Given the description of an element on the screen output the (x, y) to click on. 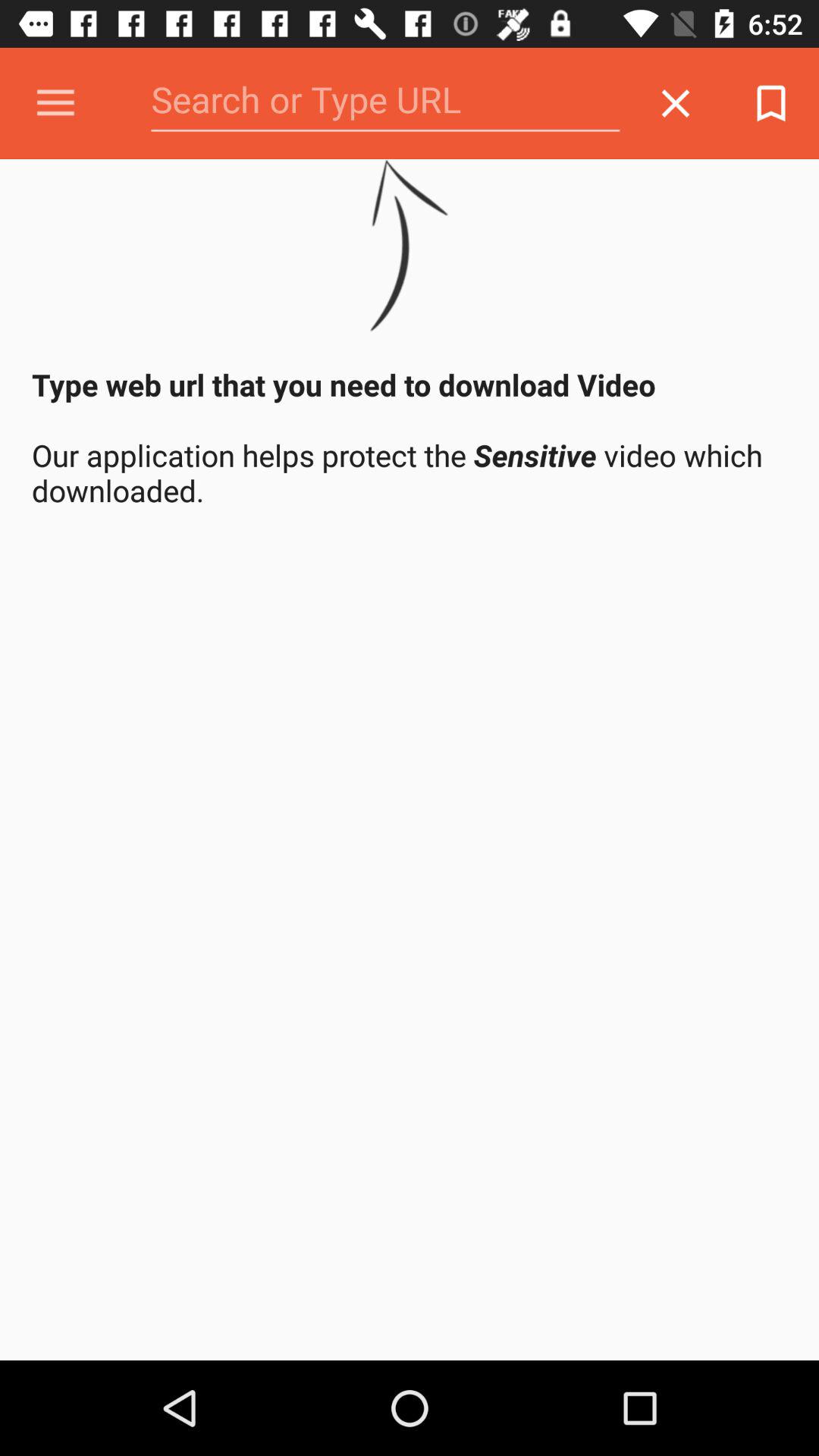
type in search term or web address (385, 103)
